Given the description of an element on the screen output the (x, y) to click on. 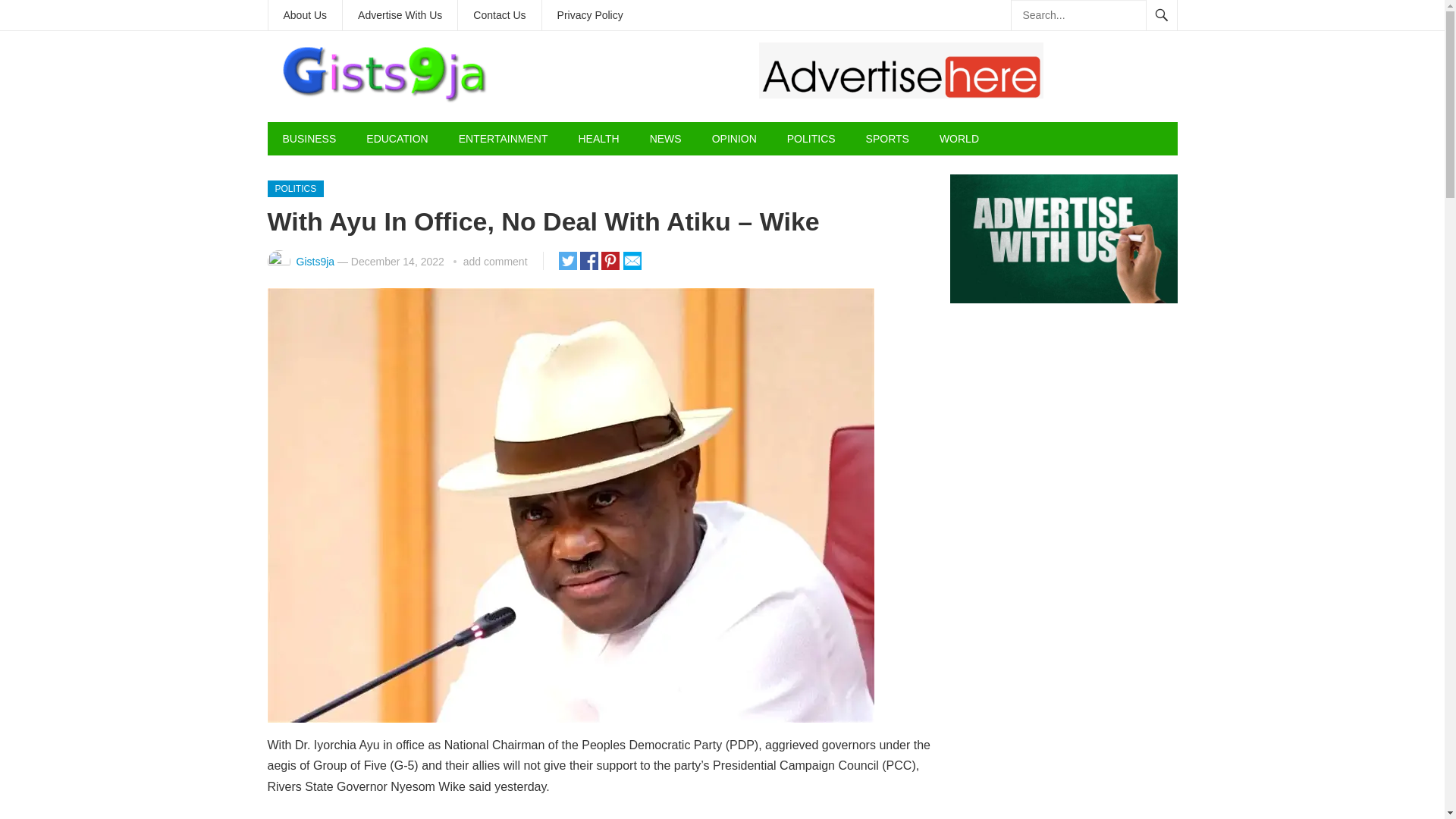
View all posts in Politics (294, 188)
ENTERTAINMENT (503, 138)
Posts by Gists9ja (314, 261)
About Us (304, 15)
Privacy Policy (590, 15)
BUSINESS (308, 138)
Contact Us (499, 15)
Advertise With Us (399, 15)
HEALTH (597, 138)
Gists9ja (314, 261)
